Given the description of an element on the screen output the (x, y) to click on. 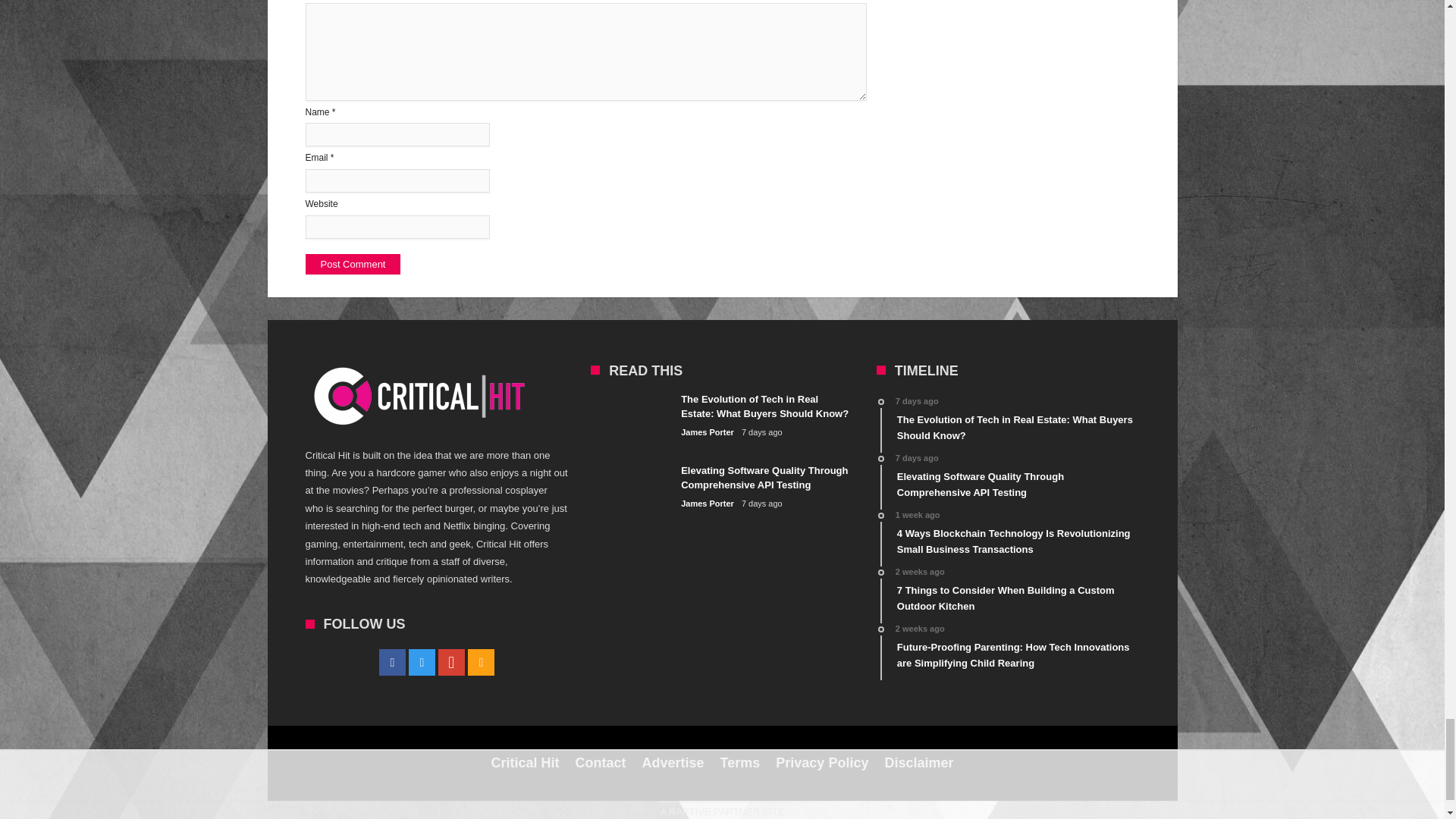
Post Comment (352, 263)
